Given the description of an element on the screen output the (x, y) to click on. 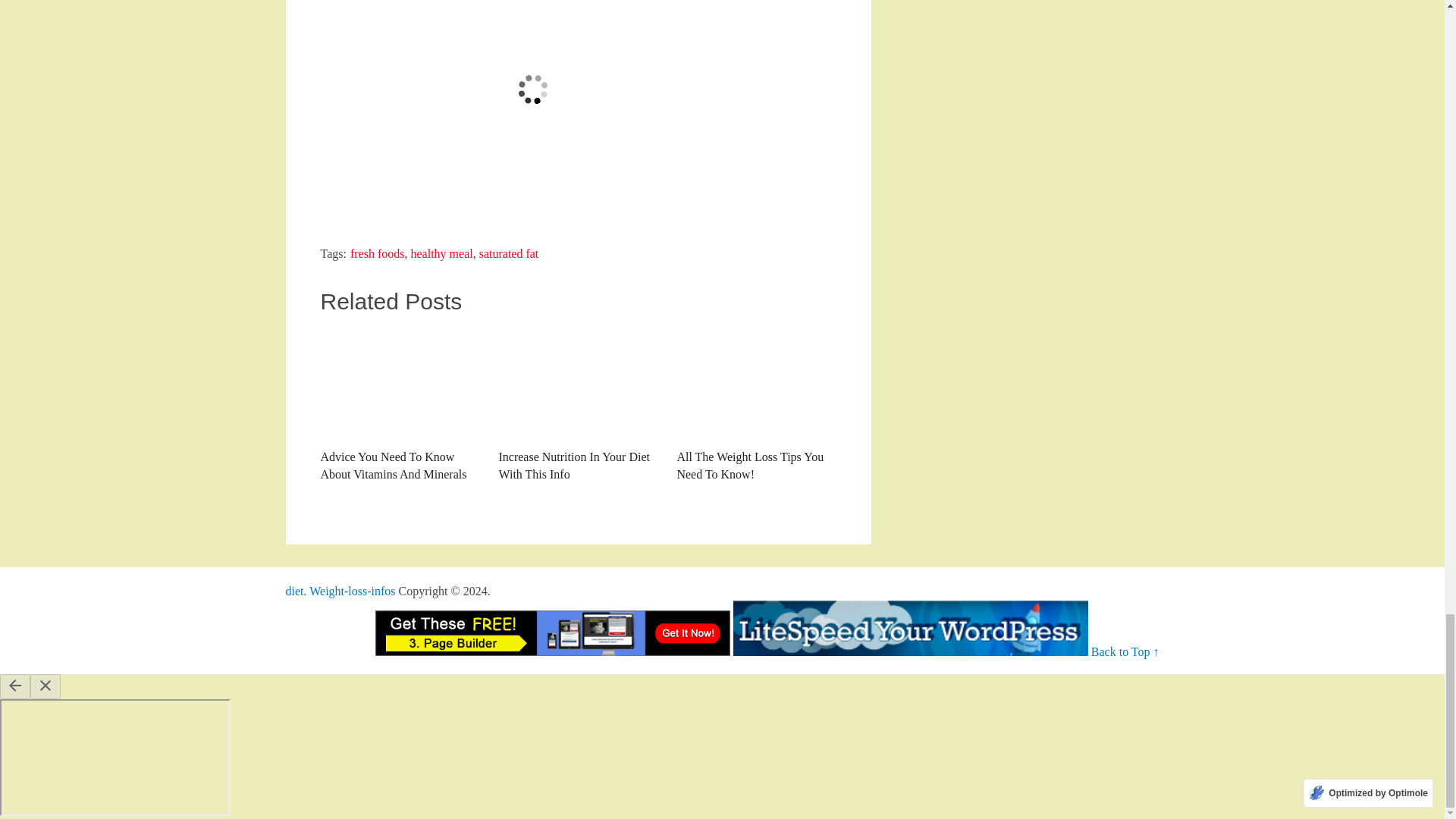
Advice You Need To Know About Vitamins And Minerals (399, 404)
fresh foods (377, 253)
healthy meal (440, 253)
All The Weight Loss Tips You Need To Know! (756, 404)
saturated fat (508, 253)
diet. Weight-loss-infos (339, 590)
Increase Nutrition In Your Diet With This Info (577, 404)
